Given the description of an element on the screen output the (x, y) to click on. 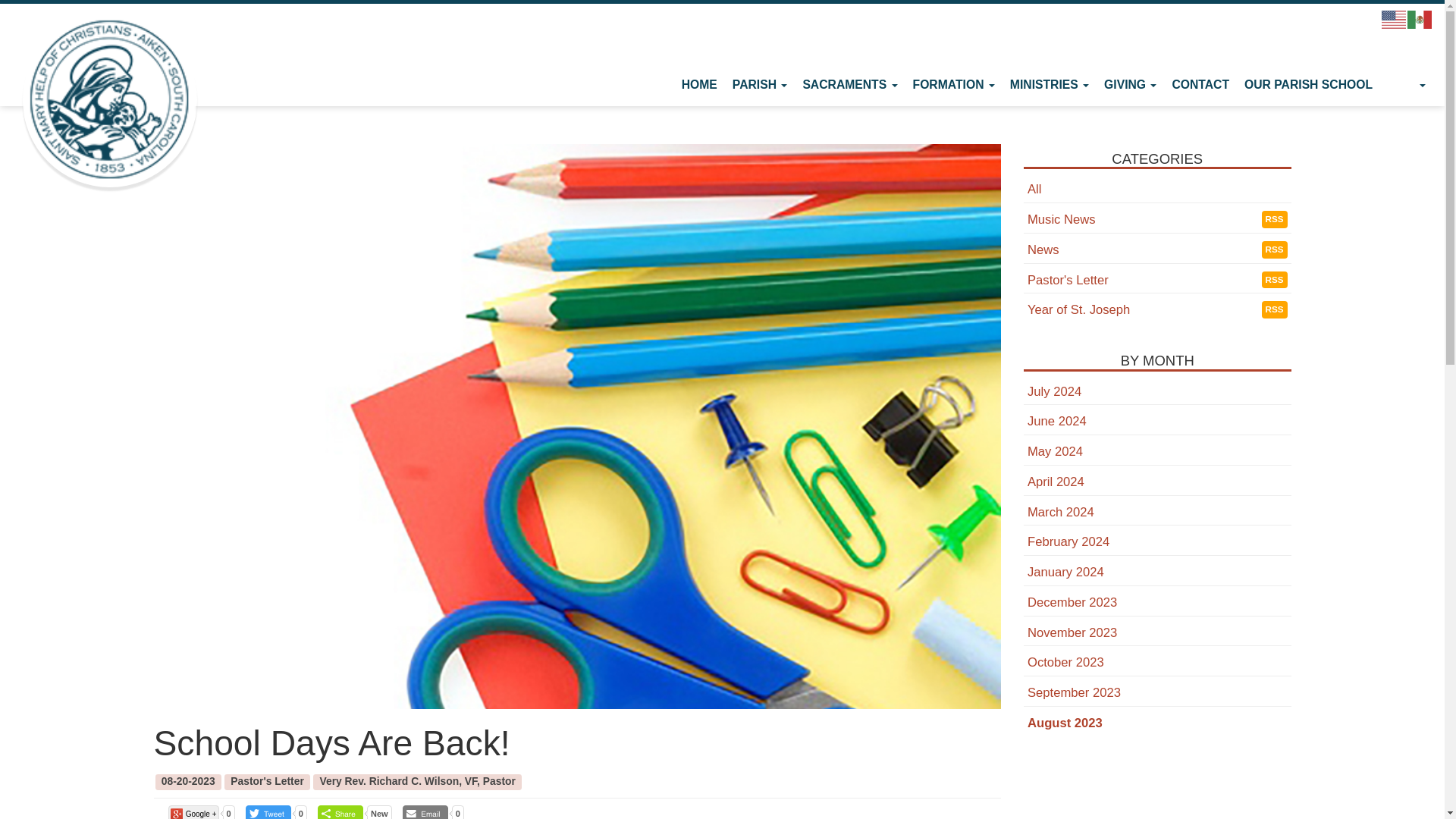
PARISH (759, 84)
SACRAMENTS (849, 84)
Spanish (1419, 19)
HOME (699, 84)
FORMATION (954, 84)
English (1394, 19)
